Given the description of an element on the screen output the (x, y) to click on. 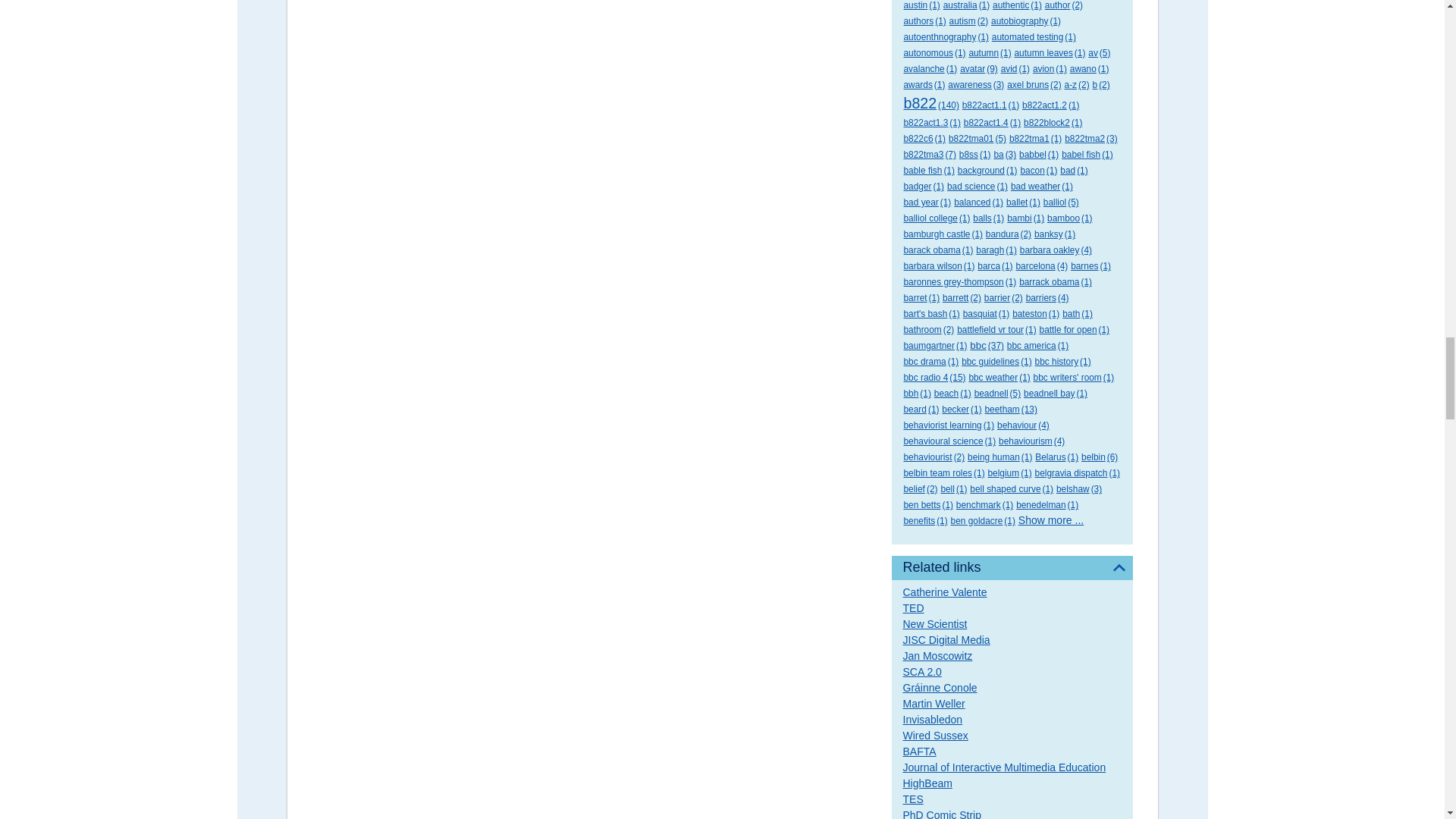
Related links (1011, 567)
